Given the description of an element on the screen output the (x, y) to click on. 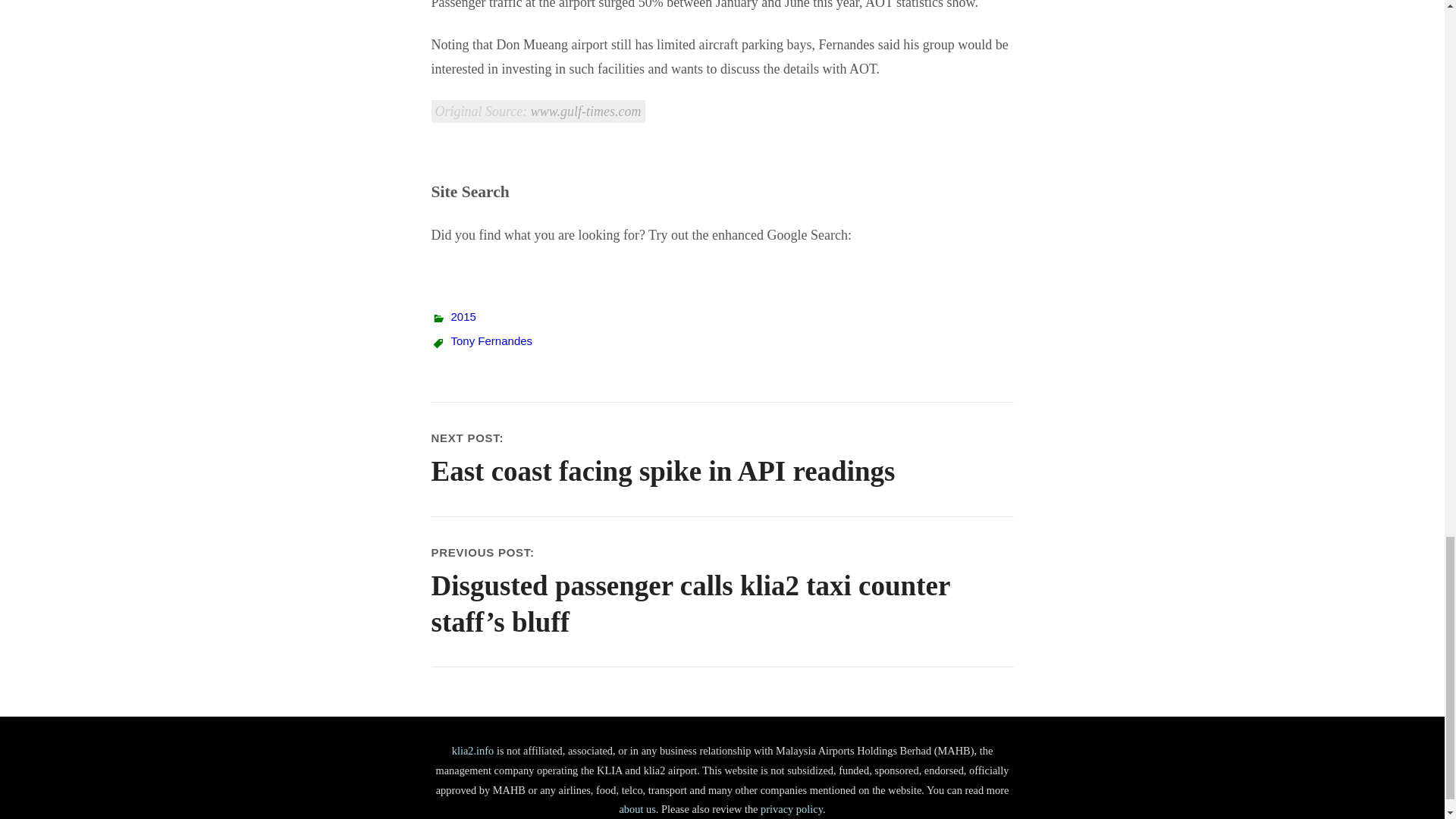
Tony Fernandes (490, 340)
klia2.info (473, 750)
2015 (462, 316)
www.gulf-times.com (586, 111)
about us (636, 808)
privacy policy (791, 808)
